Given the description of an element on the screen output the (x, y) to click on. 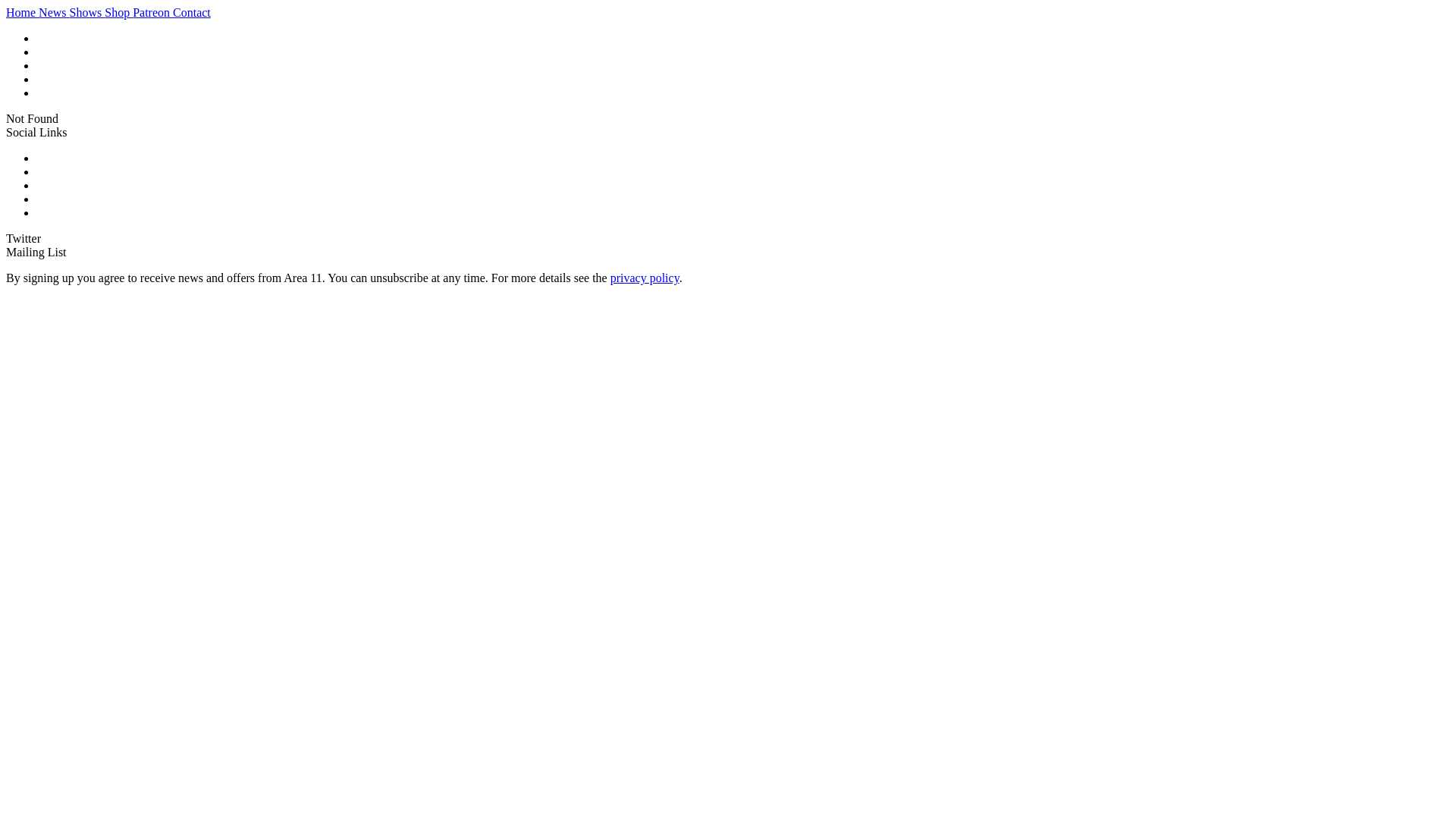
Shows Element type: text (87, 12)
Shop Element type: text (118, 12)
News Element type: text (53, 12)
Contact Element type: text (191, 12)
Patreon Element type: text (152, 12)
Home Element type: text (22, 12)
privacy policy Element type: text (644, 277)
